Given the description of an element on the screen output the (x, y) to click on. 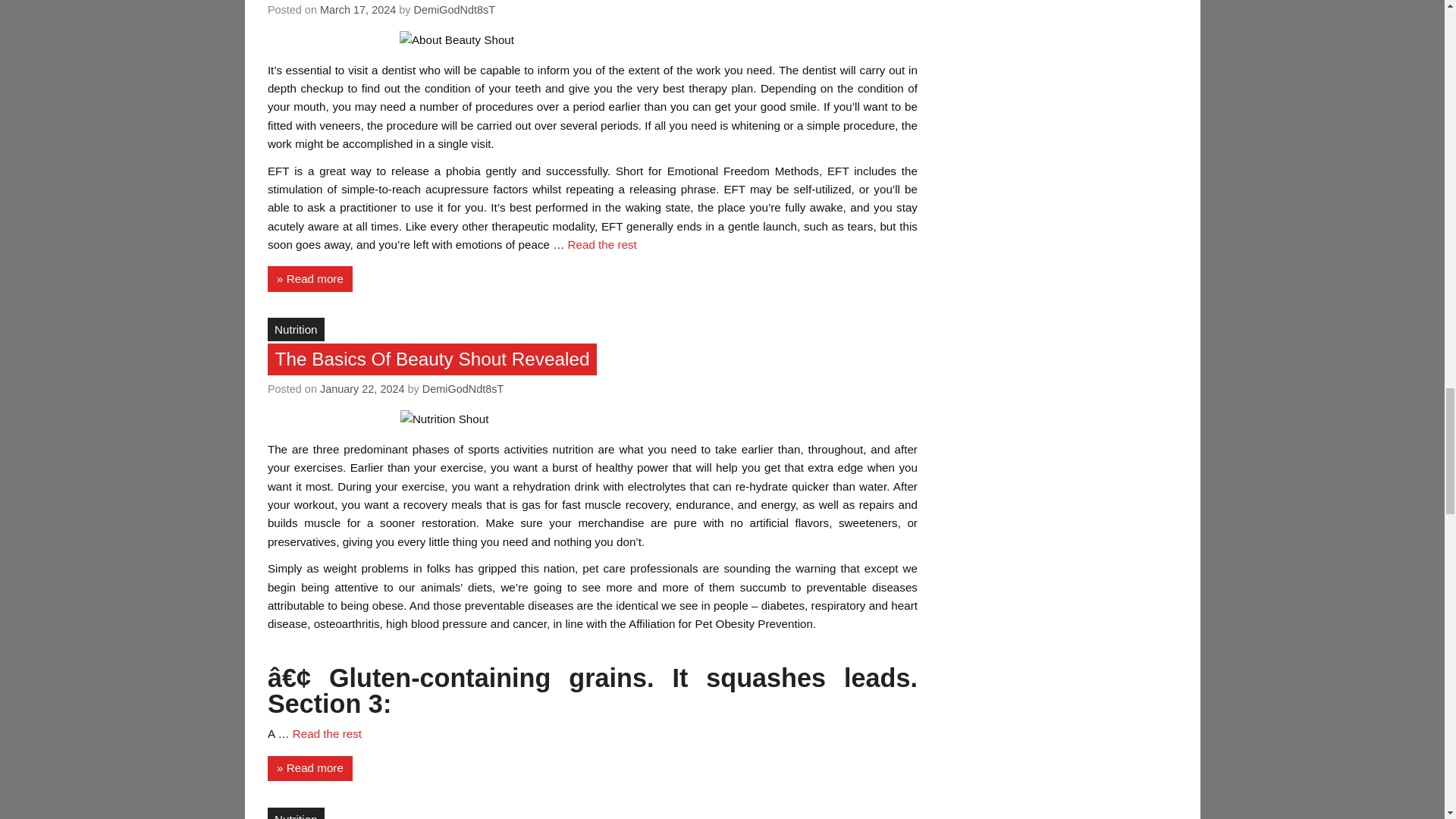
The Basics Of Beauty Shout Revealed (432, 358)
View all posts by DemiGodNdt8sT (462, 388)
March 17, 2024 (358, 9)
6:44 pm (358, 9)
9:33 am (362, 388)
DemiGodNdt8sT (462, 388)
View all posts by DemiGodNdt8sT (454, 9)
Read the rest (602, 244)
January 22, 2024 (362, 388)
Nutrition (295, 328)
